Given the description of an element on the screen output the (x, y) to click on. 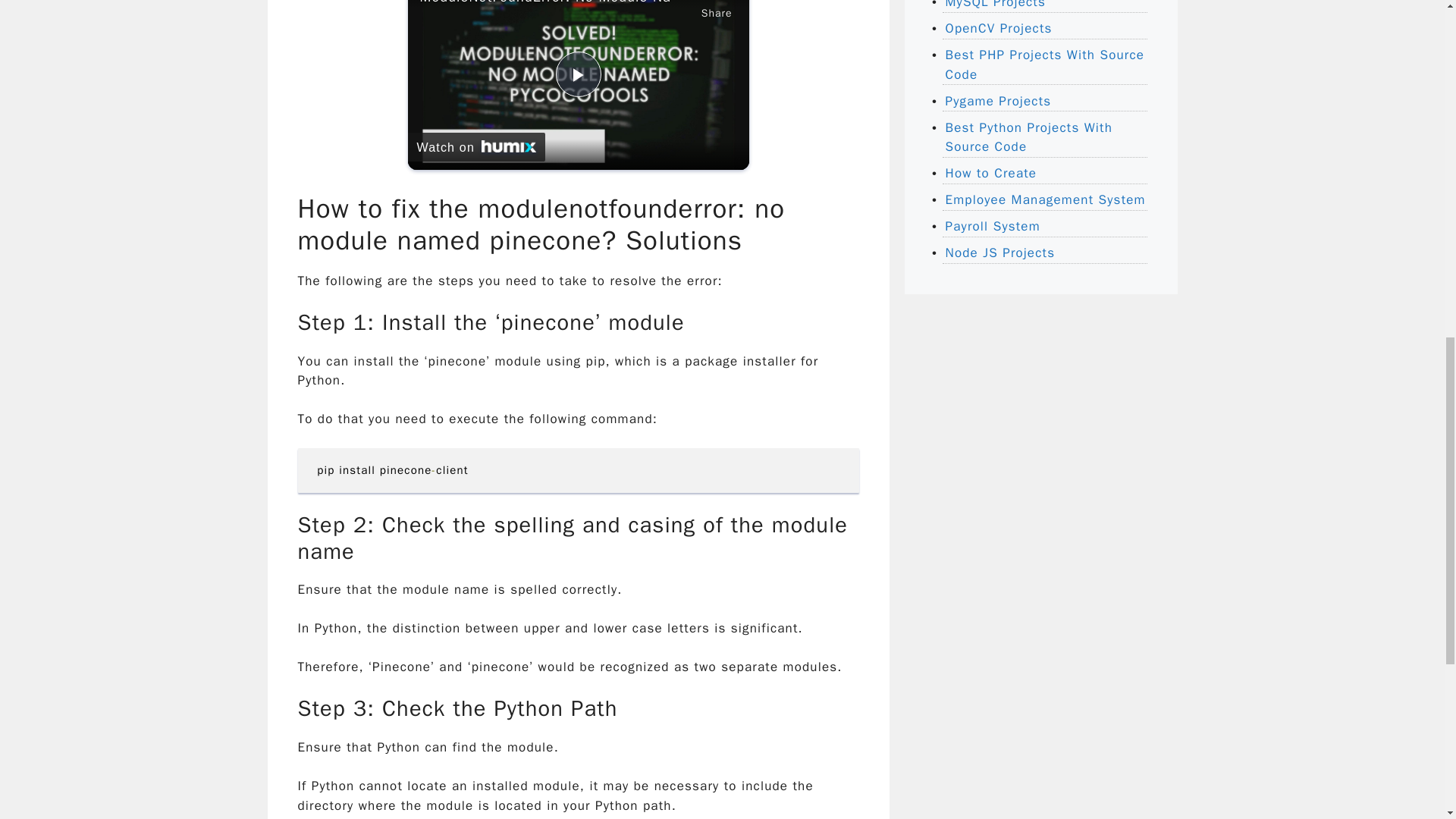
Play Video (576, 74)
share (716, 10)
